Given the description of an element on the screen output the (x, y) to click on. 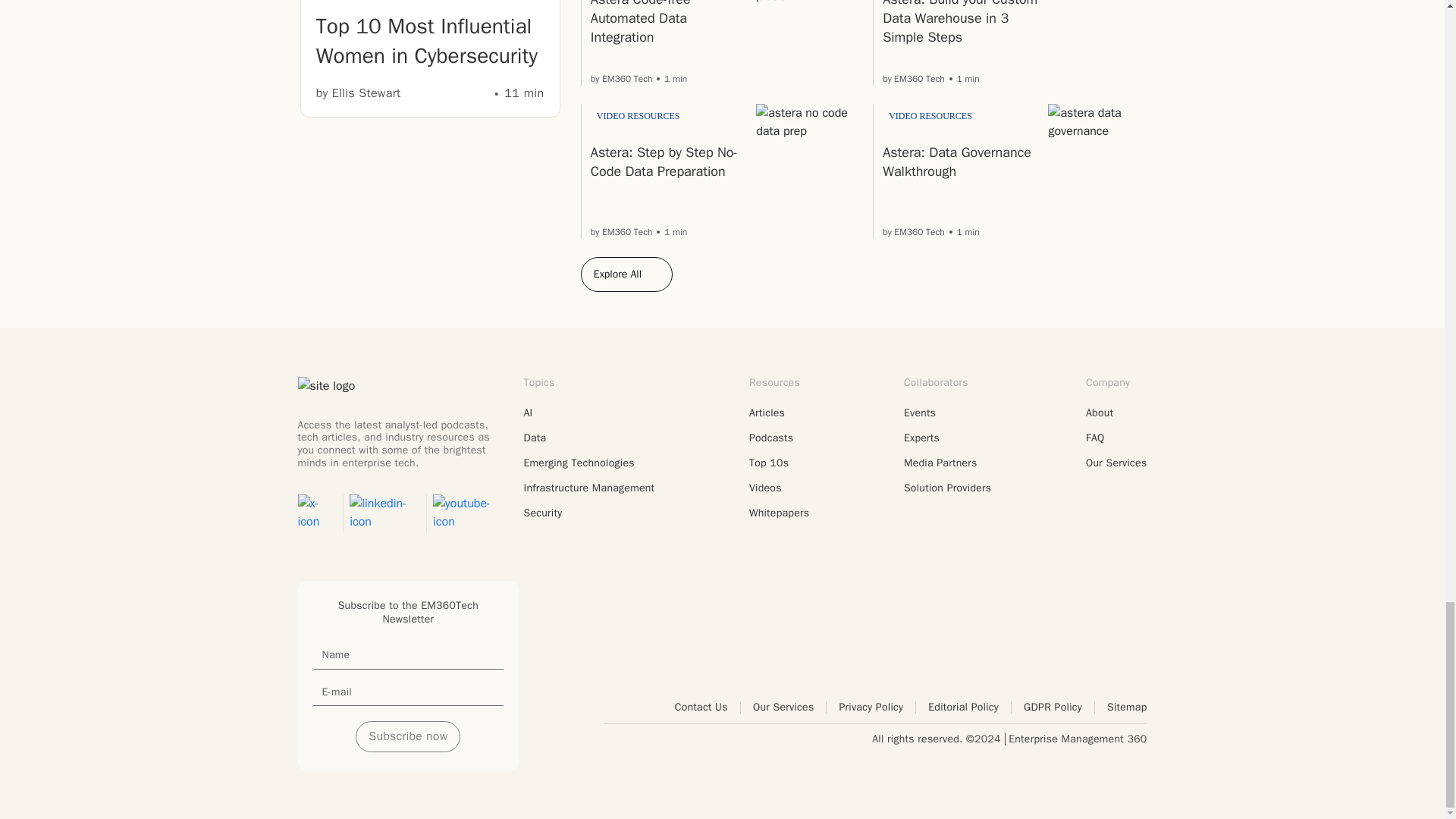
Subscribe now (407, 736)
Privacy Policy (876, 707)
GDPR Policy (1058, 707)
Sitemap (1126, 707)
